Given the description of an element on the screen output the (x, y) to click on. 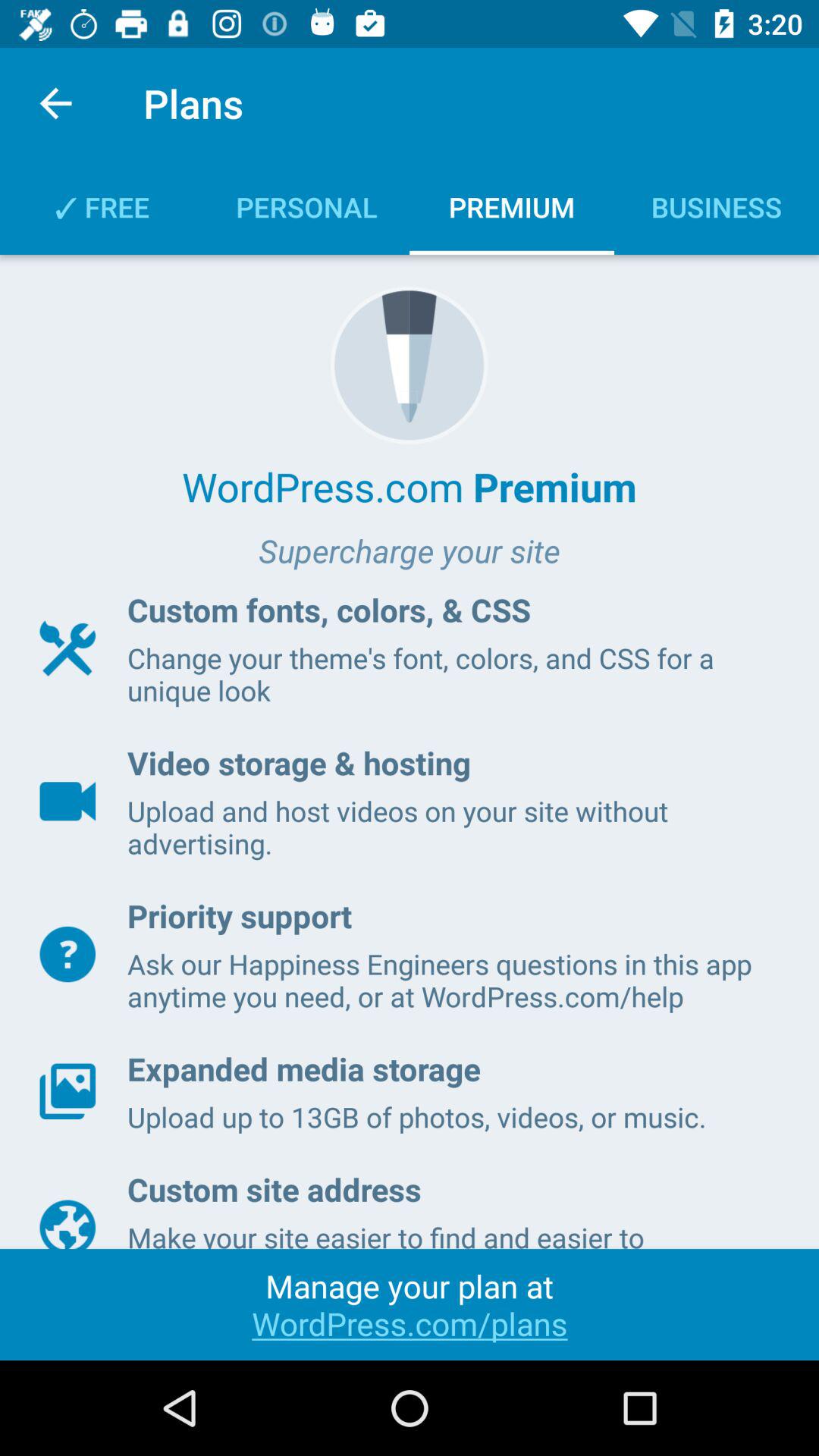
launch the icon next to plans item (55, 103)
